Given the description of an element on the screen output the (x, y) to click on. 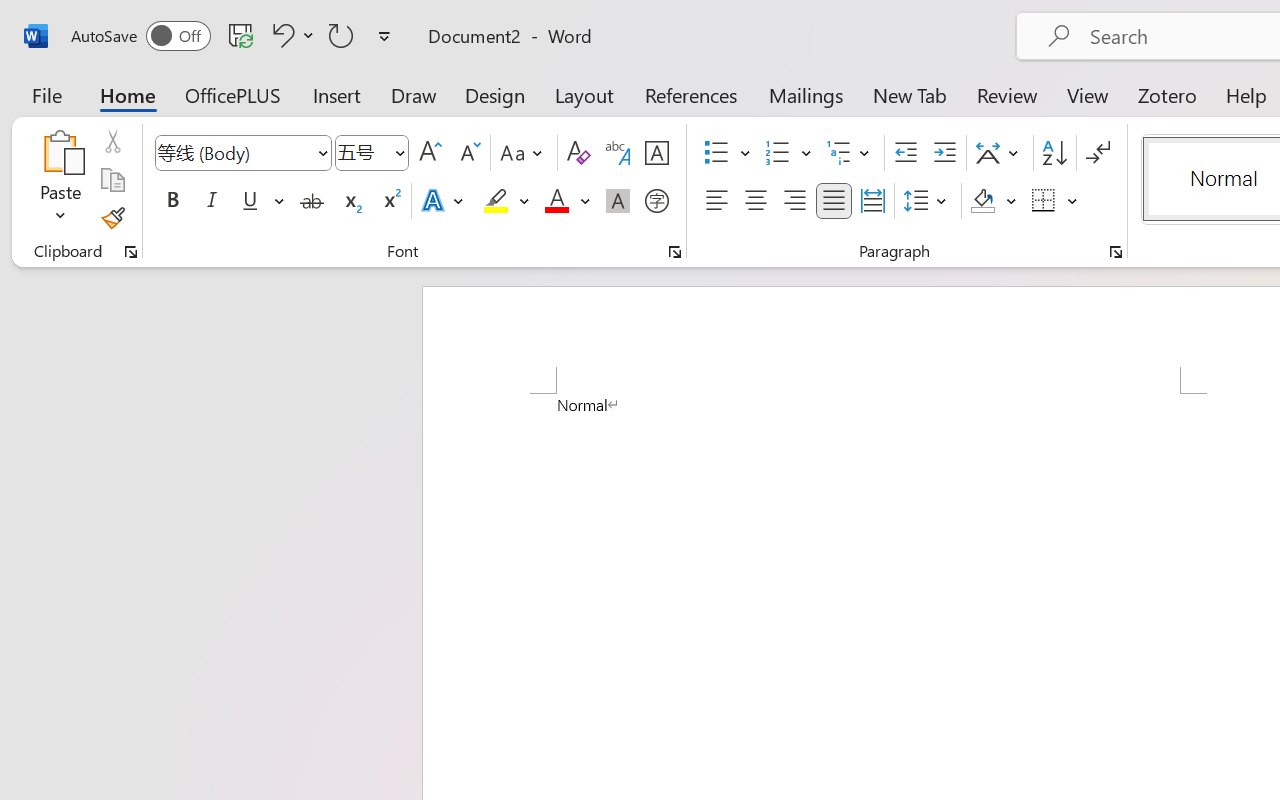
New Tab (909, 94)
Repeat Doc Close (341, 35)
Character Shading (618, 201)
Center (756, 201)
Undo Apply Quick Style (290, 35)
Office Clipboard... (131, 252)
Text Highlight Color (506, 201)
Copy (112, 179)
Design (495, 94)
Text Effects and Typography (444, 201)
OfficePLUS (233, 94)
Decrease Indent (906, 153)
Insert (337, 94)
Strikethrough (312, 201)
